Given the description of an element on the screen output the (x, y) to click on. 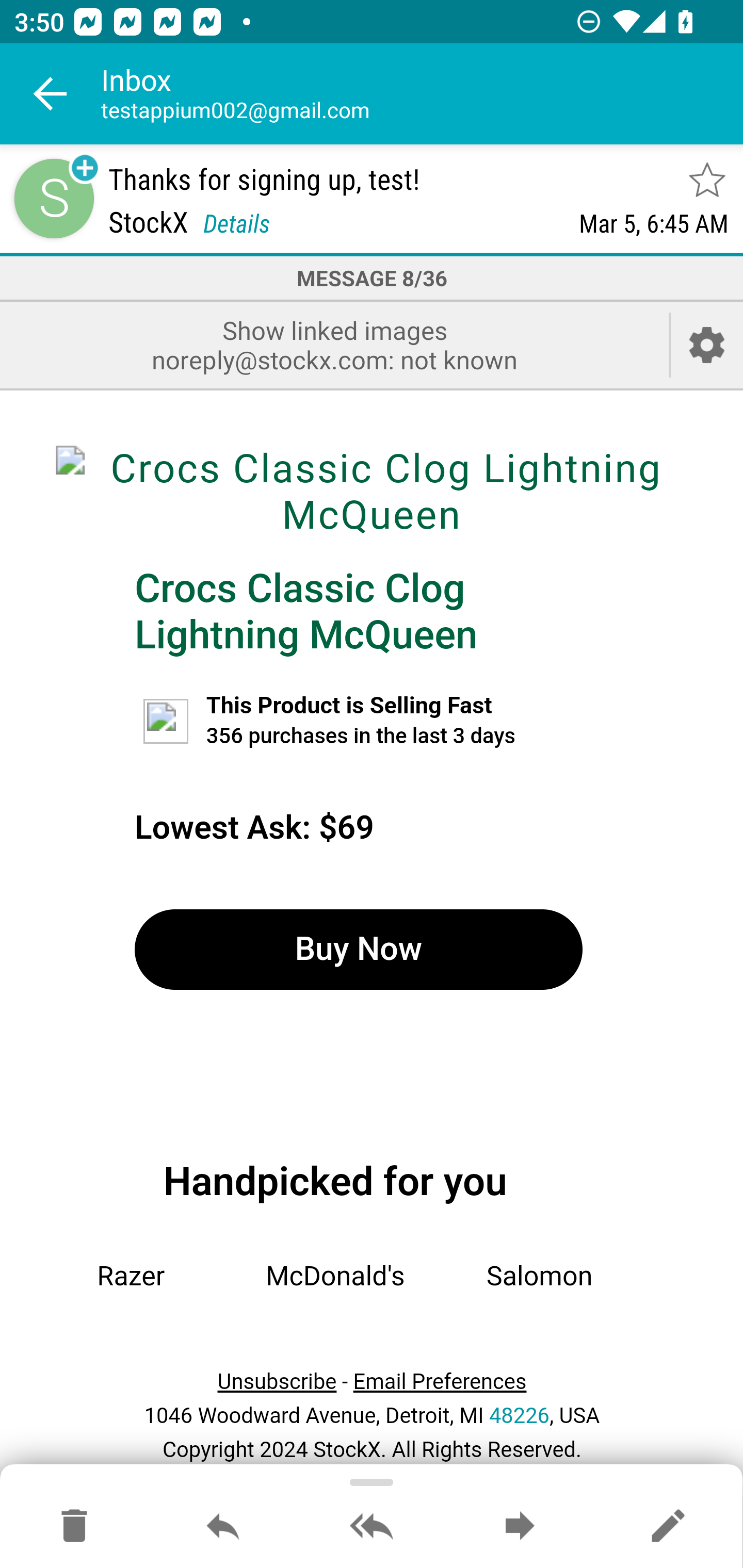
Navigate up (50, 93)
Inbox testappium002@gmail.com (422, 93)
Sender contact button (53, 198)
Show linked images
noreply@stockx.com: not known (334, 344)
Account setup (706, 344)
Crocs Classic Clog Lightning McQueen (371, 491)
Crocs Classic Clog Lightning McQueen (305, 611)
Buy Now (357, 949)
Handpicked for you (334, 1181)
Unsubscribe (276, 1381)
Email Preferences (439, 1381)
48226 (518, 1415)
Move to Deleted (74, 1527)
Reply (222, 1527)
Reply all (371, 1527)
Forward (519, 1527)
Reply as new (667, 1527)
